Given the description of an element on the screen output the (x, y) to click on. 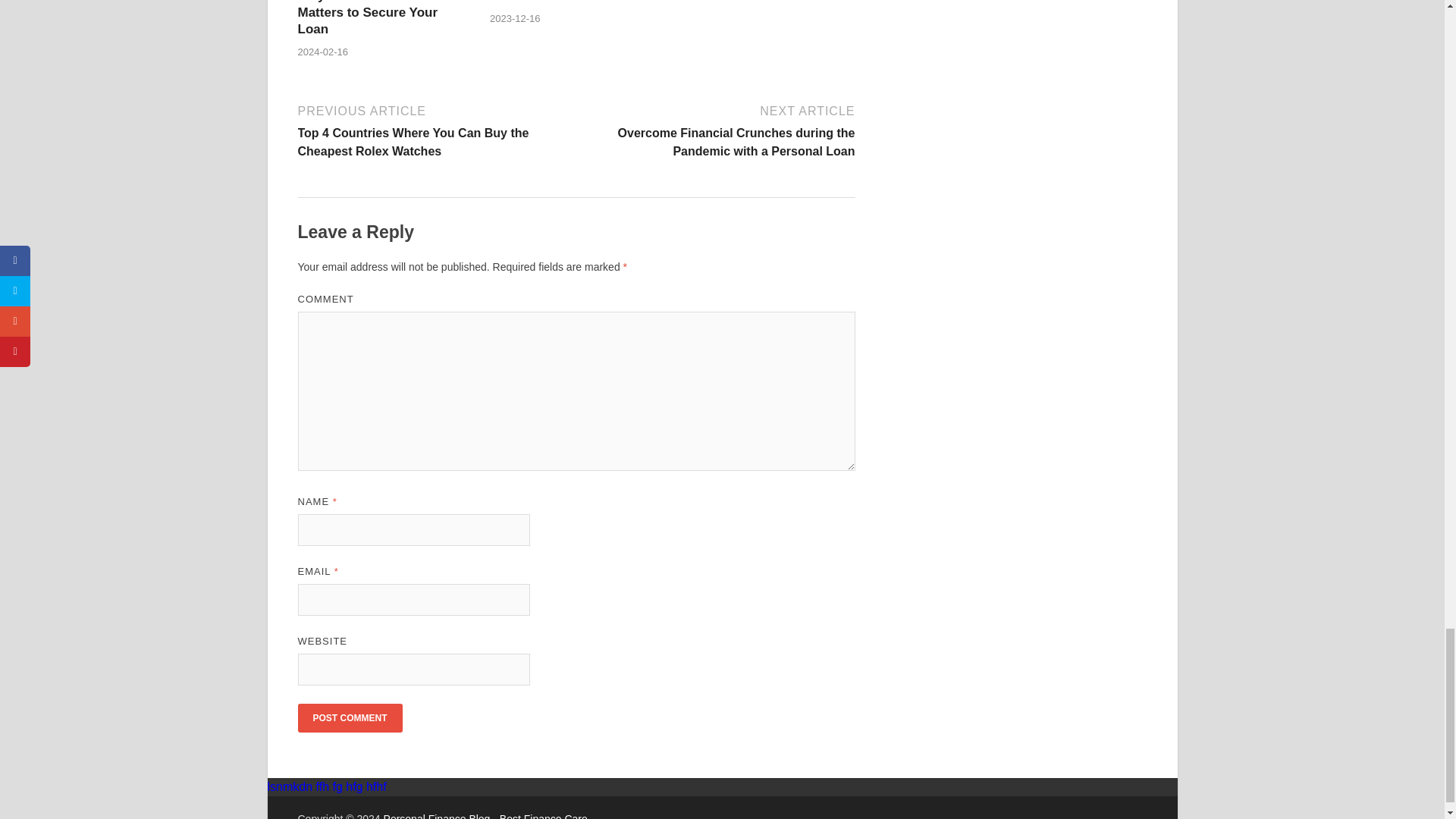
Post Comment (349, 717)
Post Comment (349, 717)
Types Of Secured Vs Unsecured Loans (553, 1)
Types Of Secured Vs Unsecured Loans (553, 1)
